Given the description of an element on the screen output the (x, y) to click on. 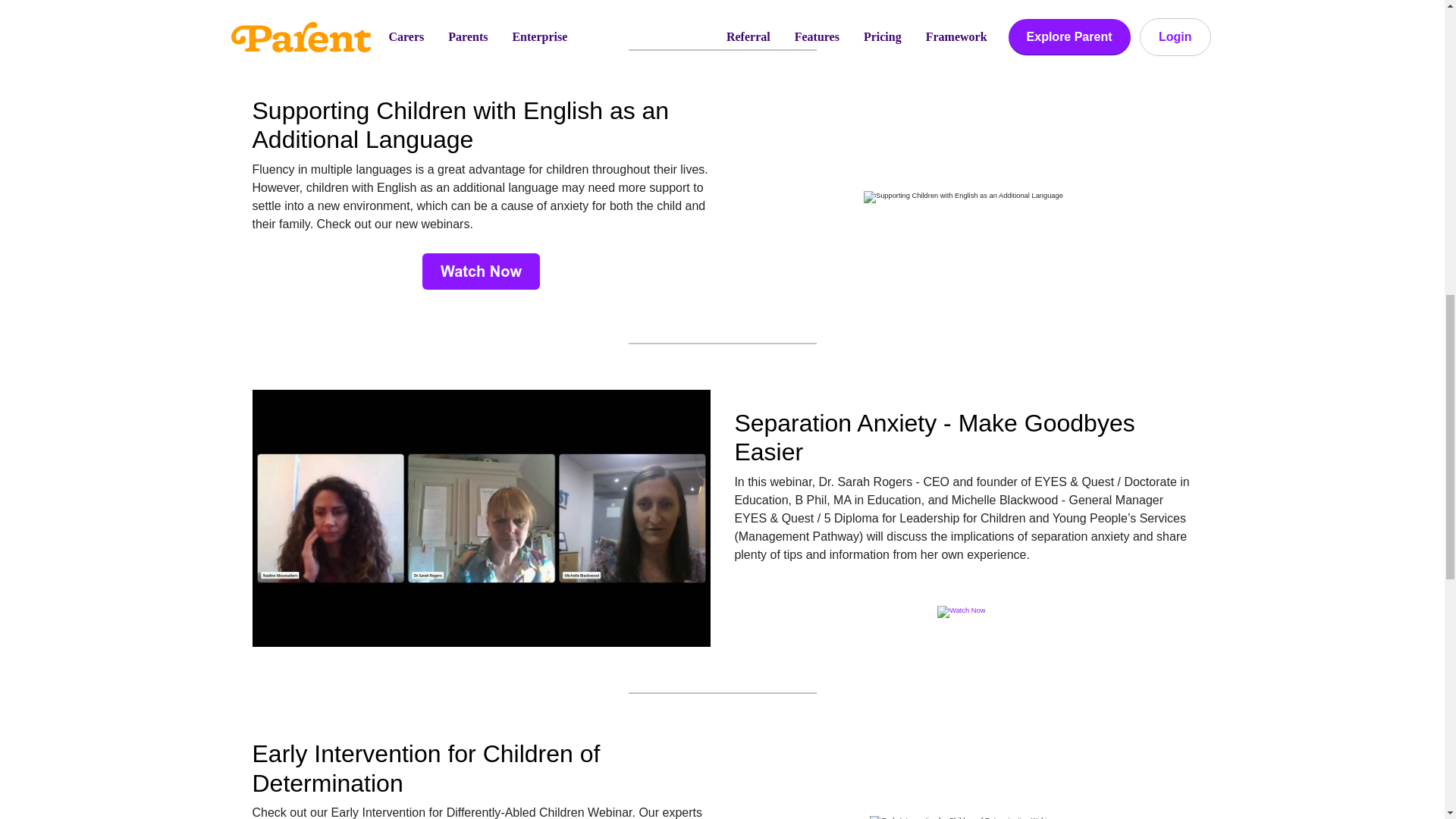
Separation Anxiety - Make Goodbyes Easier (480, 518)
Early Intervention for Children of Determination Webinar (963, 817)
Supporting Children with English as an Additional Language (962, 196)
